Given the description of an element on the screen output the (x, y) to click on. 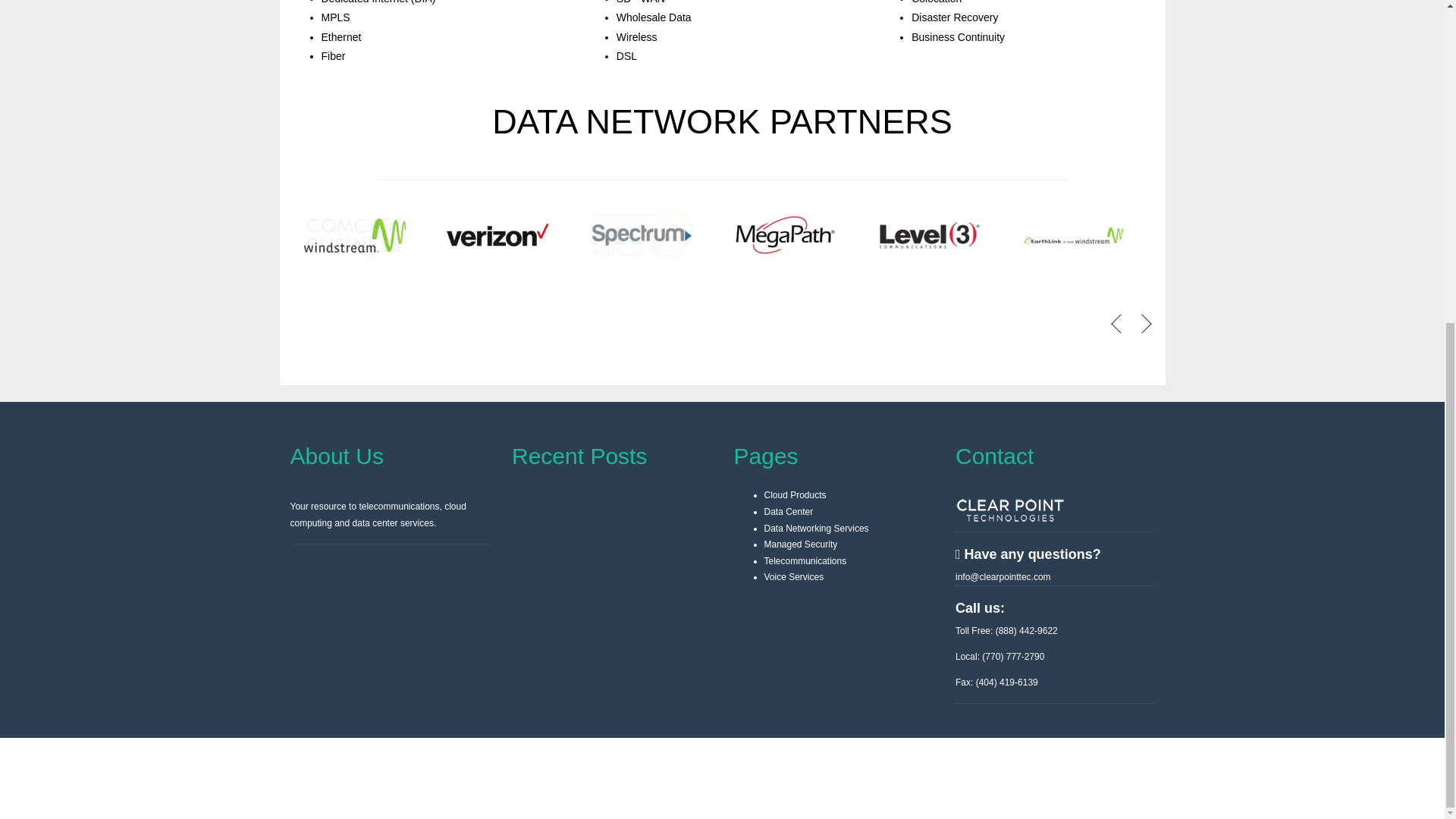
Cloud Products (795, 494)
Telecommunications (805, 561)
Data Center (788, 511)
Voice Services (794, 576)
Managed Security (801, 543)
Data Networking Services (816, 528)
